Given the description of an element on the screen output the (x, y) to click on. 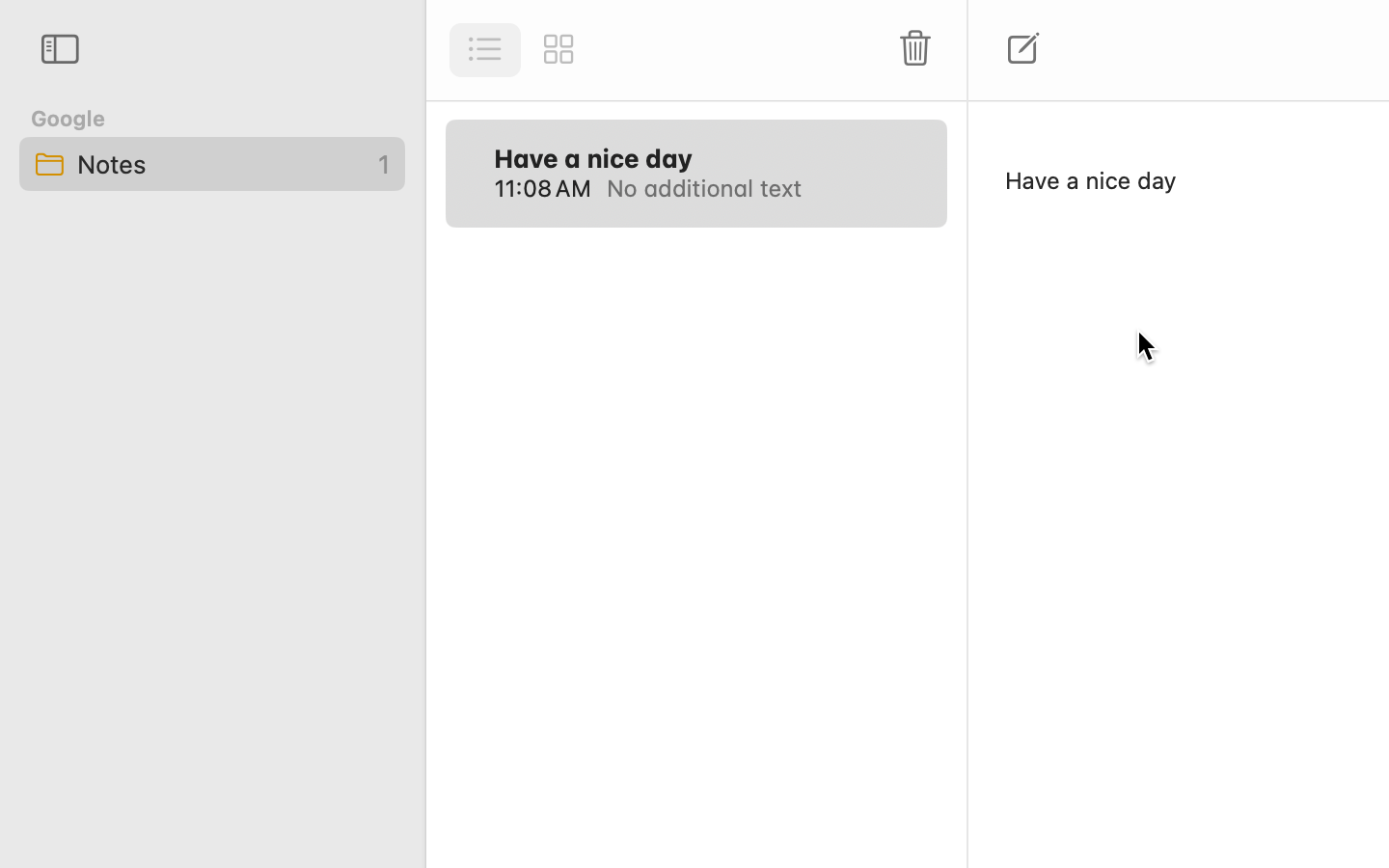
Google Element type: AXStaticText (68, 117)
Notes Element type: AXStaticText (211, 163)
11:08 AM Element type: AXStaticText (542, 187)
No additional text Element type: AXStaticText (753, 187)
